Given the description of an element on the screen output the (x, y) to click on. 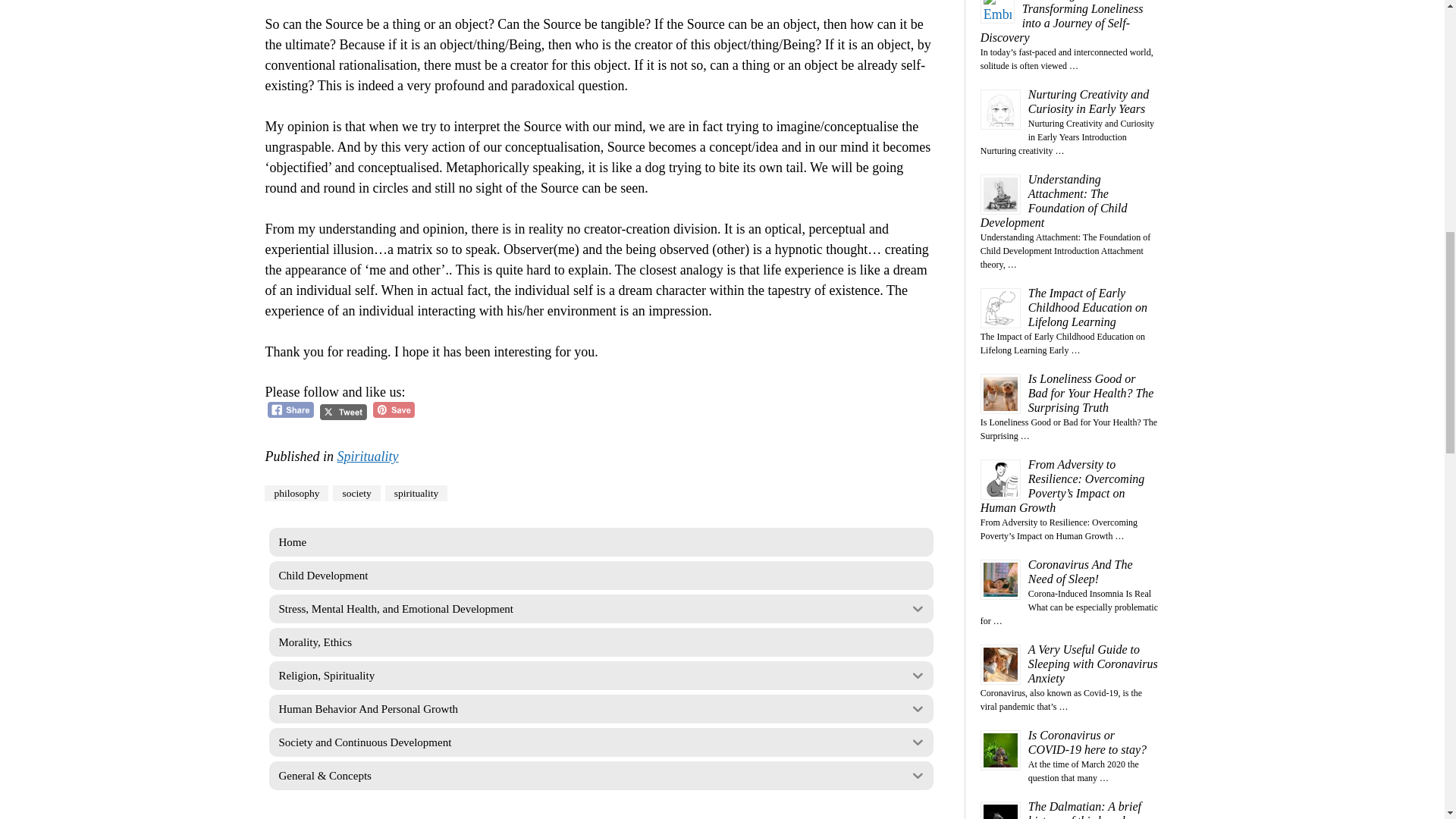
Tweet (343, 412)
Pin Share (393, 409)
View all posts tagged society (356, 493)
View all posts tagged spirituality (416, 493)
View all posts tagged philosophy (296, 493)
Facebook Share (290, 409)
View all posts in Spirituality (366, 456)
